Given the description of an element on the screen output the (x, y) to click on. 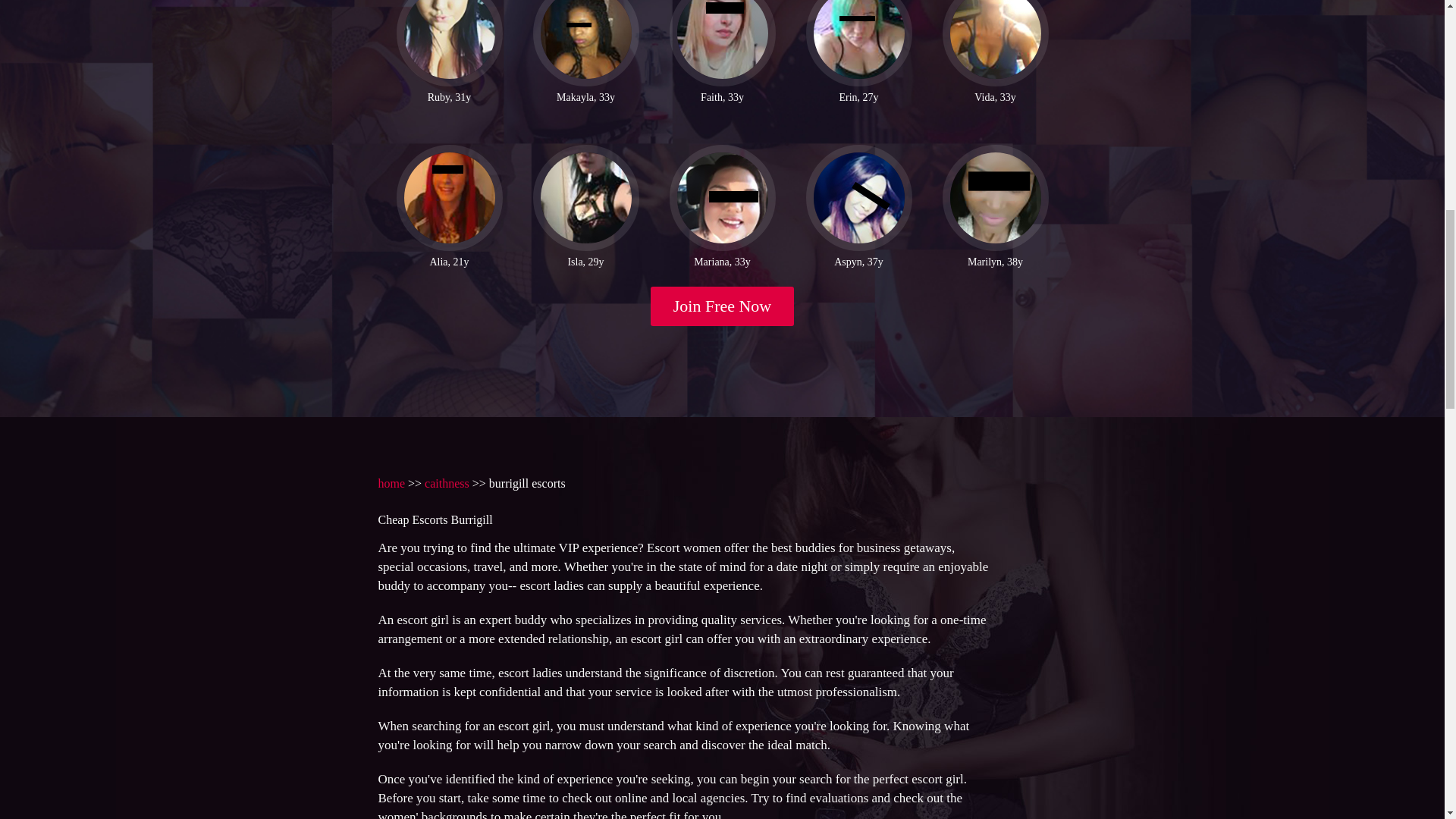
caithness (446, 482)
home (390, 482)
Join (722, 305)
Join Free Now (722, 305)
